Given the description of an element on the screen output the (x, y) to click on. 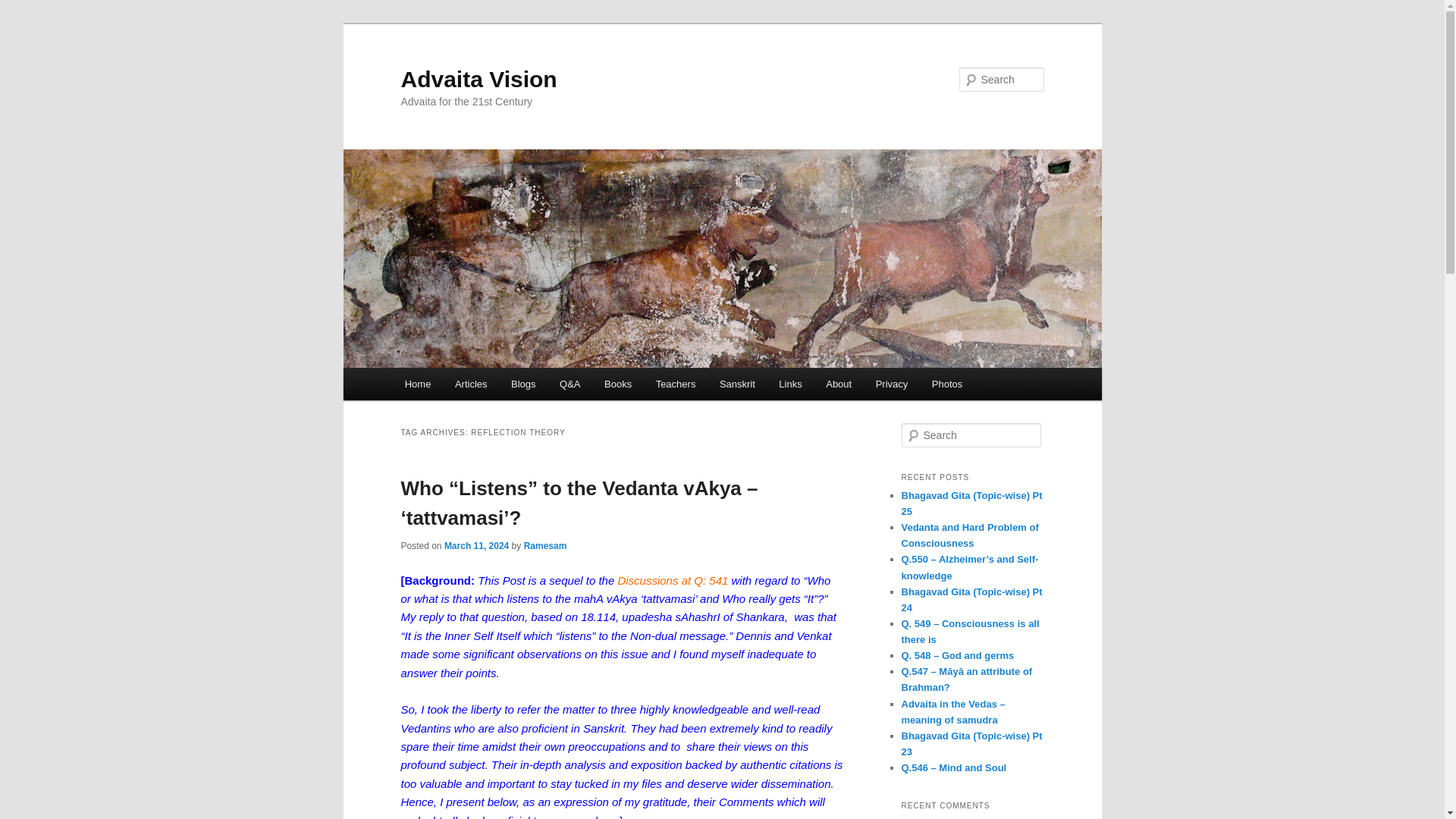
March 11, 2024 (476, 545)
Advaita Vision (478, 78)
Blogs (523, 383)
16:10 (476, 545)
Articles (470, 383)
Links (790, 383)
Books (617, 383)
View all posts by Ramesam (545, 545)
About (838, 383)
Home (417, 383)
